Given the description of an element on the screen output the (x, y) to click on. 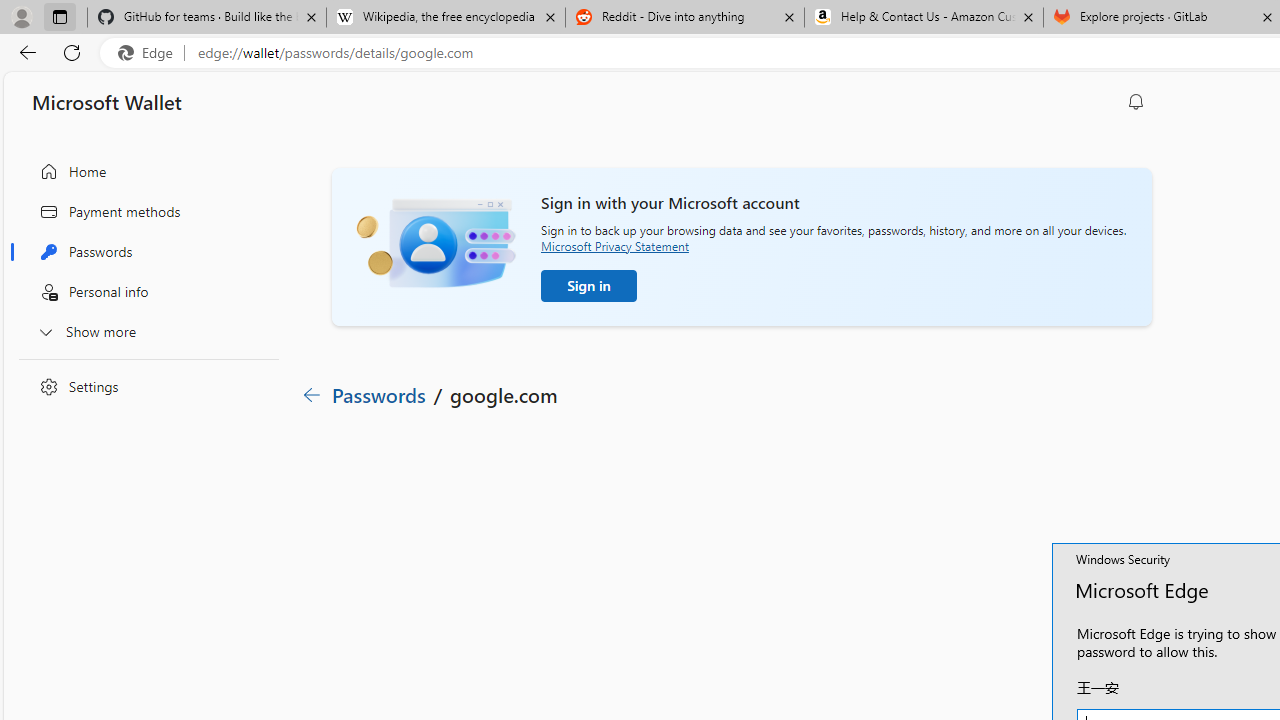
Personal info (143, 292)
Sign in (589, 285)
Show more (143, 331)
Passwords - 1 total saved (944, 573)
Edge (150, 53)
Microsoft Privacy Statement (614, 246)
Passwords (143, 252)
Payment methods (143, 211)
Notification (1136, 101)
